Given the description of an element on the screen output the (x, y) to click on. 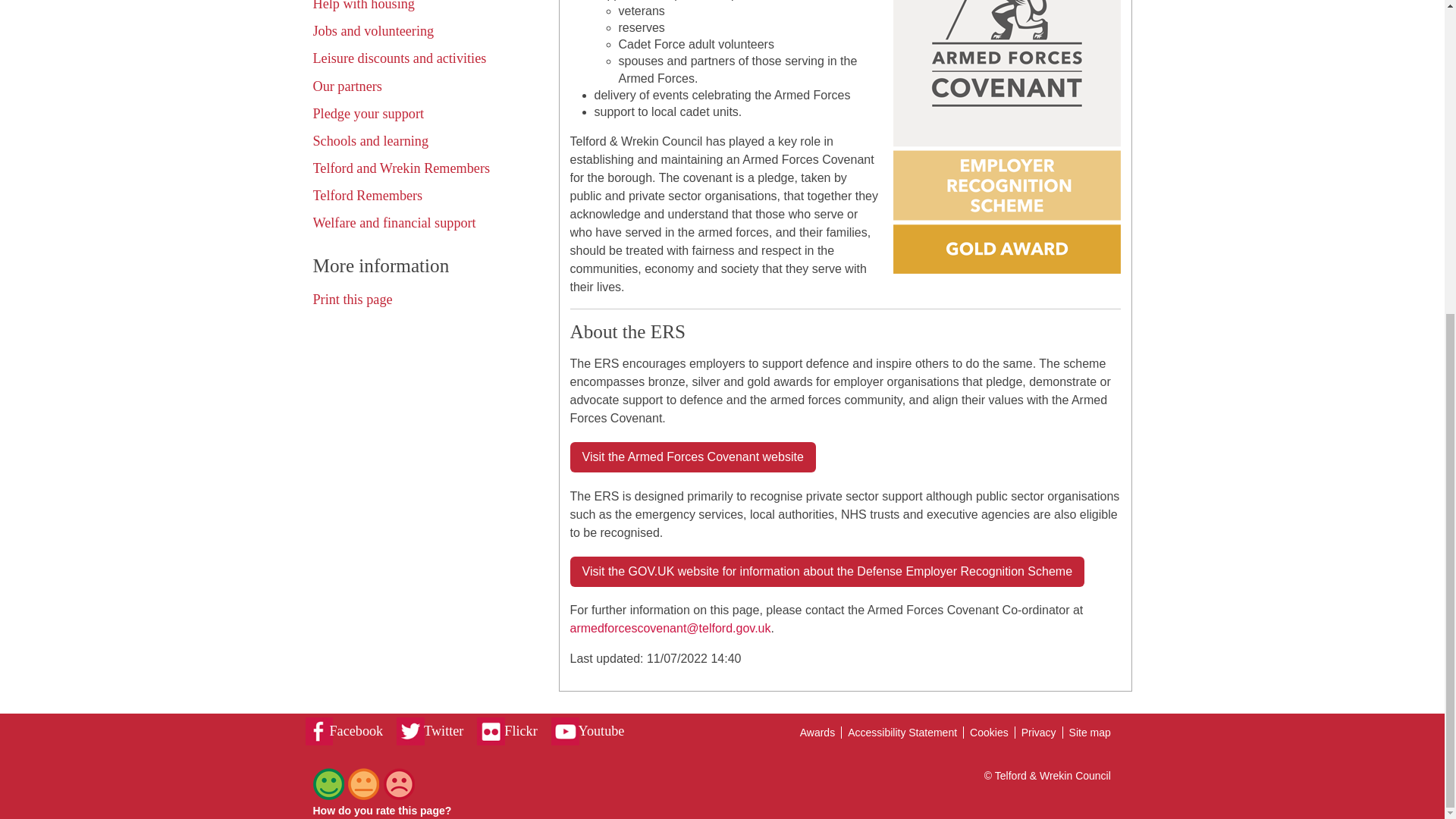
Share your feedback (363, 796)
